Given the description of an element on the screen output the (x, y) to click on. 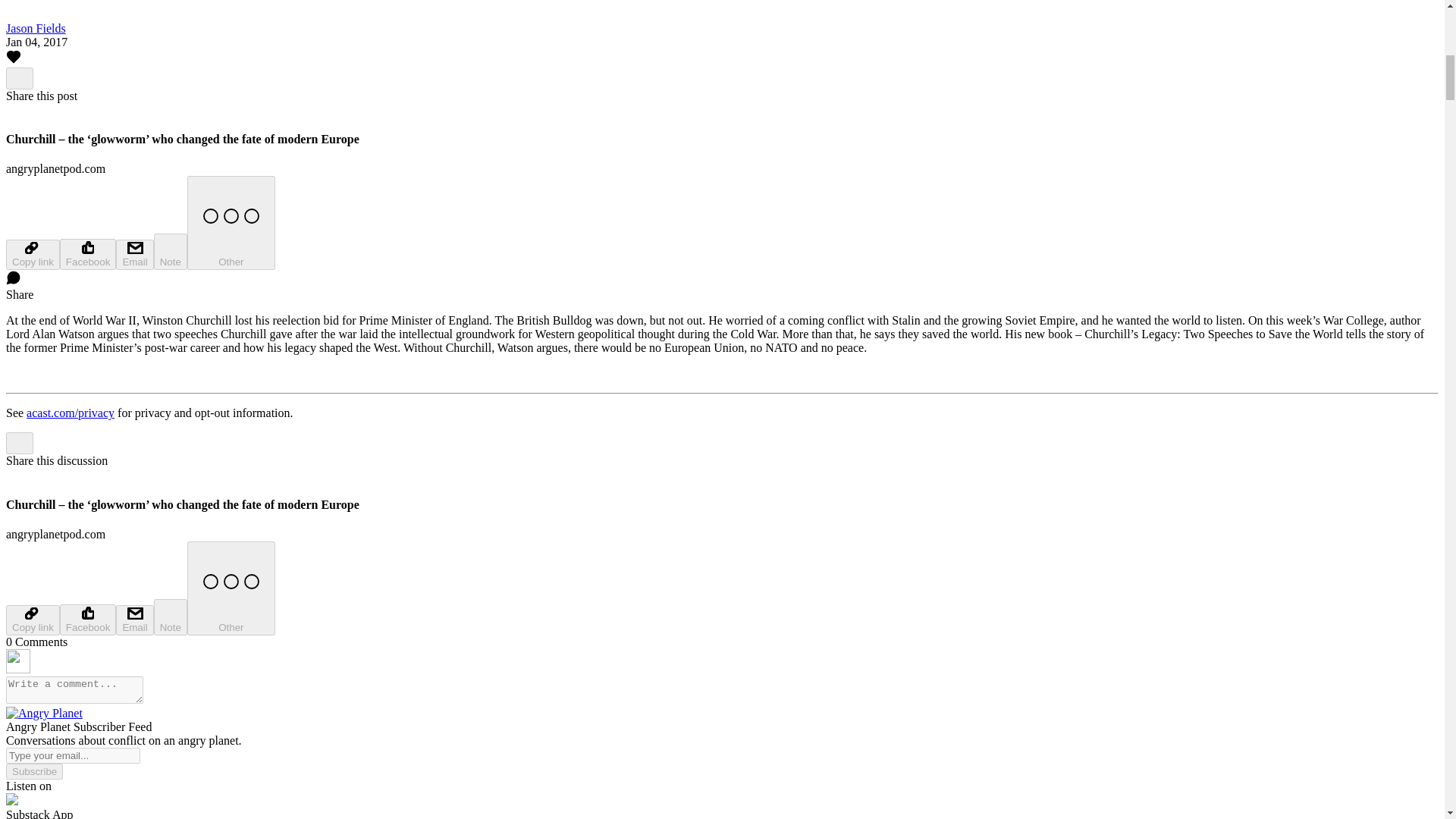
Copy link (32, 620)
Note (170, 251)
Jason Fields (35, 28)
Copy link (32, 254)
Note (170, 616)
Email (134, 254)
Facebook (87, 619)
Other (231, 588)
Facebook (87, 254)
Email (134, 620)
Other (231, 223)
